Given the description of an element on the screen output the (x, y) to click on. 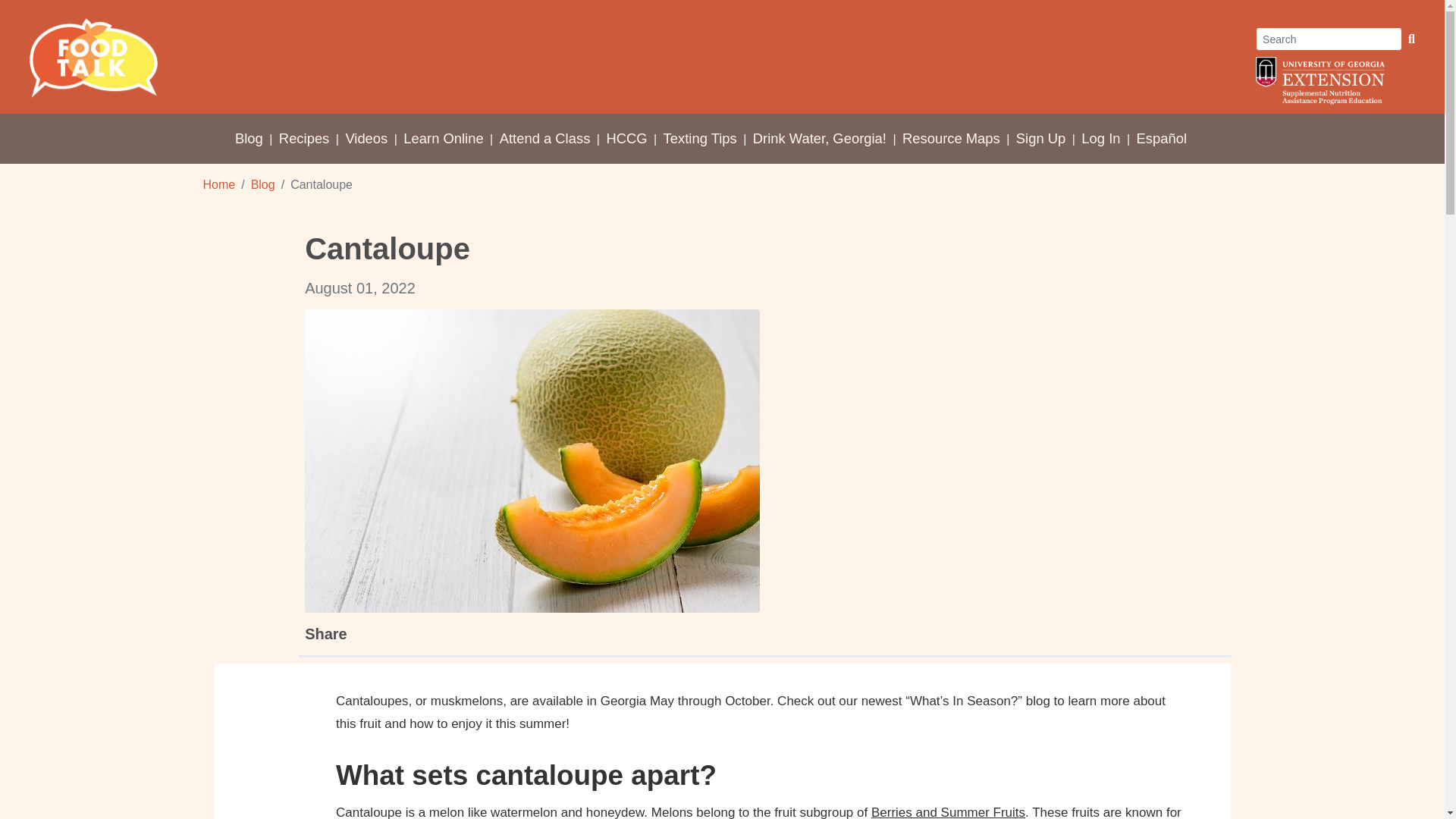
Blog (248, 138)
Recipes (304, 138)
Videos (366, 138)
HCCG (625, 138)
Resource Maps (951, 138)
Home (219, 184)
Texting Tips (699, 138)
Attend a Class (545, 138)
Log In (1100, 138)
Sign Up (1040, 138)
